Given the description of an element on the screen output the (x, y) to click on. 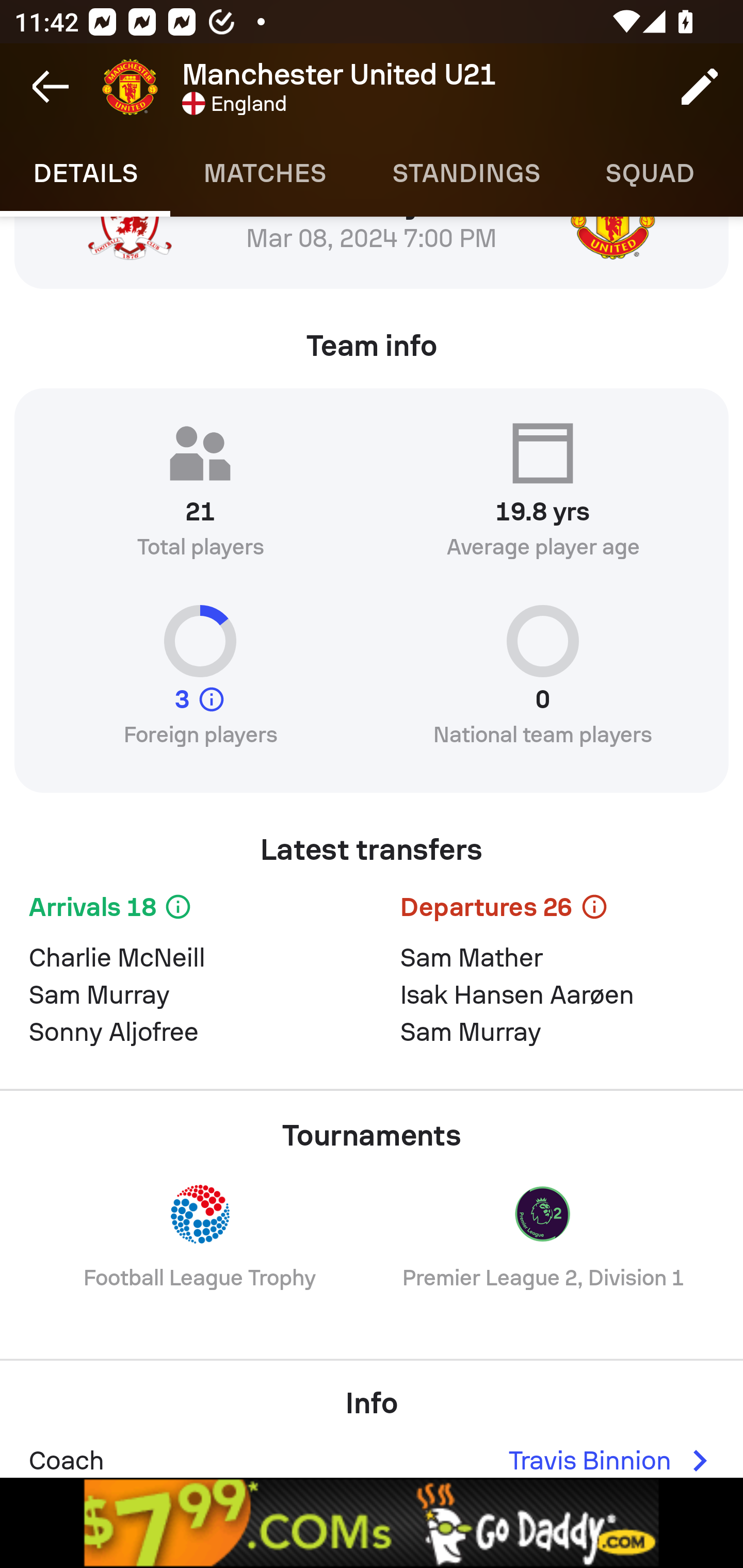
Navigate up (50, 86)
Edit (699, 86)
Matches MATCHES (264, 173)
Standings STANDINGS (465, 173)
Squad SQUAD (650, 173)
3 Foreign players (199, 684)
Arrivals 18 (185, 910)
Departures 26 (557, 910)
Football League Trophy (199, 1250)
Premier League 2, Division 1 (542, 1250)
Coach Travis Binnion (371, 1454)
492 (371, 1522)
